Given the description of an element on the screen output the (x, y) to click on. 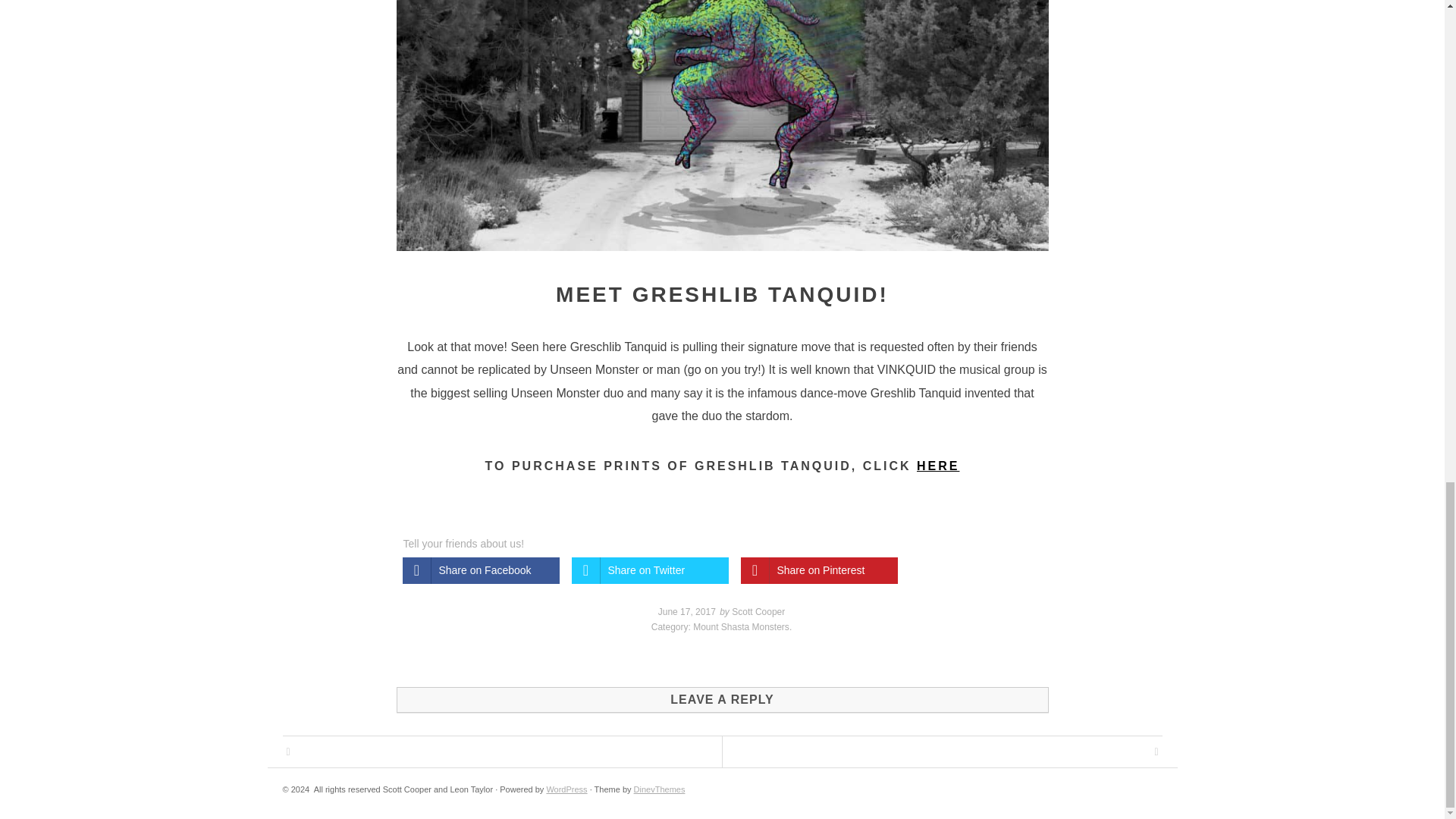
Mount Shasta Monsters (741, 626)
HERE (938, 465)
WordPress (566, 788)
Share on Facebook (480, 570)
DinevThemes (659, 788)
Share on Pinterest (817, 570)
Share on Pinterest (817, 570)
June 17, 2017 (687, 611)
Share on Twitter (650, 570)
Share on Twitter (650, 570)
Scott Cooper (758, 611)
Share on Facebook (480, 570)
